Given the description of an element on the screen output the (x, y) to click on. 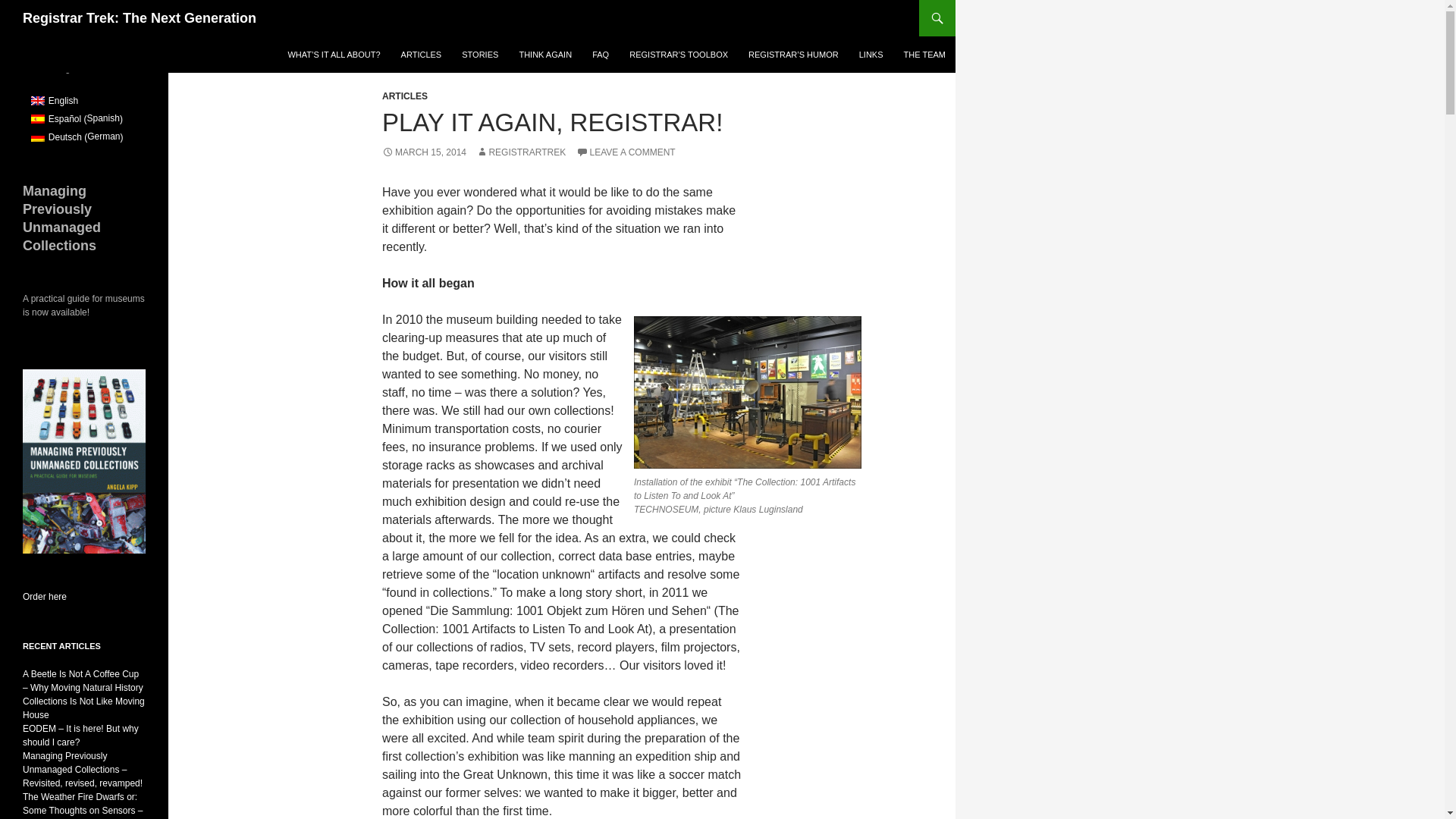
LEAVE A COMMENT (625, 152)
THE TEAM (925, 54)
THINK AGAIN (544, 54)
MARCH 15, 2014 (423, 152)
REGISTRARTREK (521, 152)
FAQ (600, 54)
LINKS (871, 54)
ARTICLES (421, 54)
ARTICLES (404, 95)
